Given the description of an element on the screen output the (x, y) to click on. 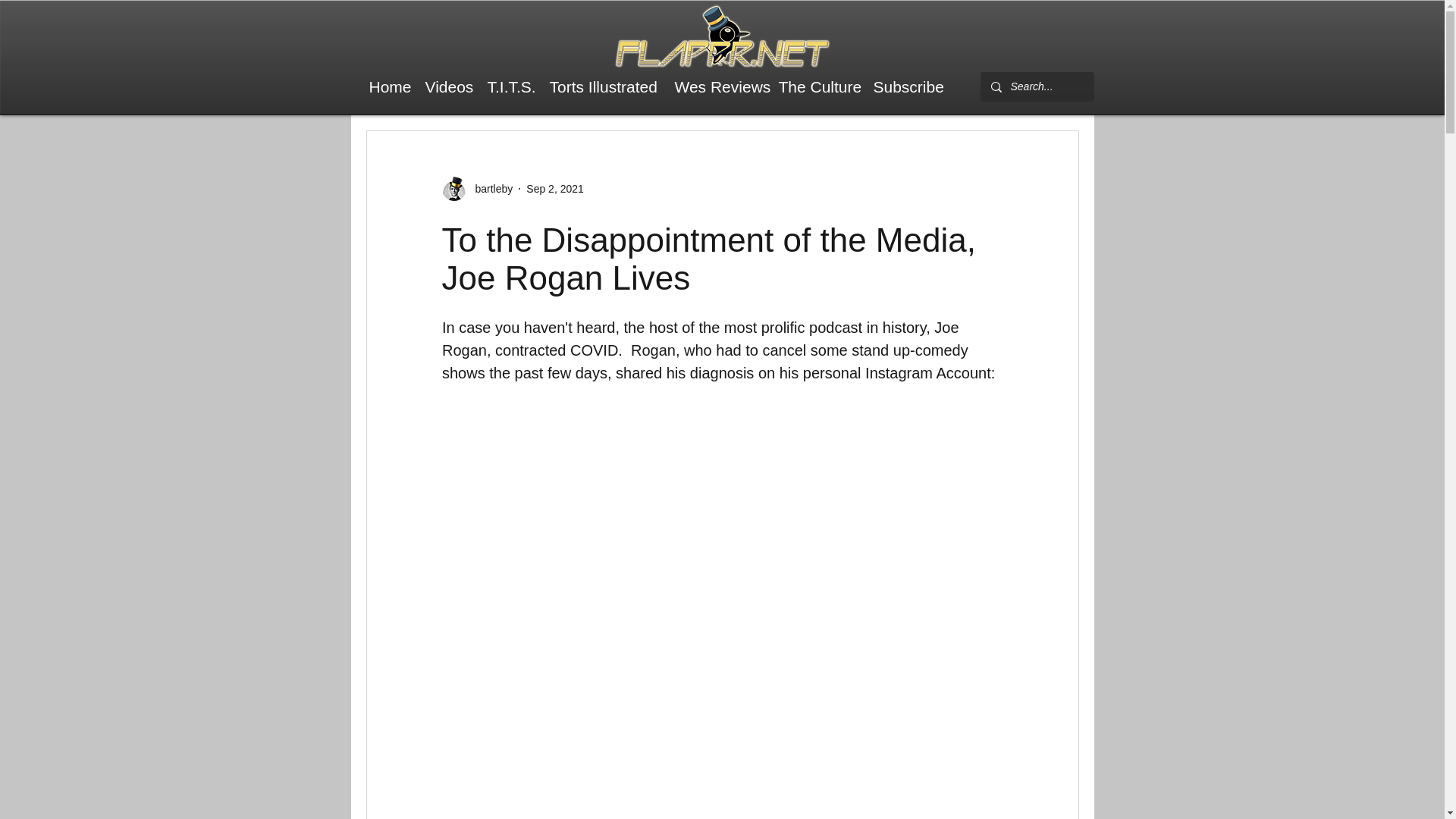
bartleby (476, 188)
The Culture (817, 86)
Torts Illustrated (603, 86)
Wes Reviews (718, 86)
Sep 2, 2021 (554, 187)
bartleby (488, 188)
T.I.T.S. (510, 86)
Videos (447, 86)
Home (388, 86)
Subscribe (907, 86)
